Given the description of an element on the screen output the (x, y) to click on. 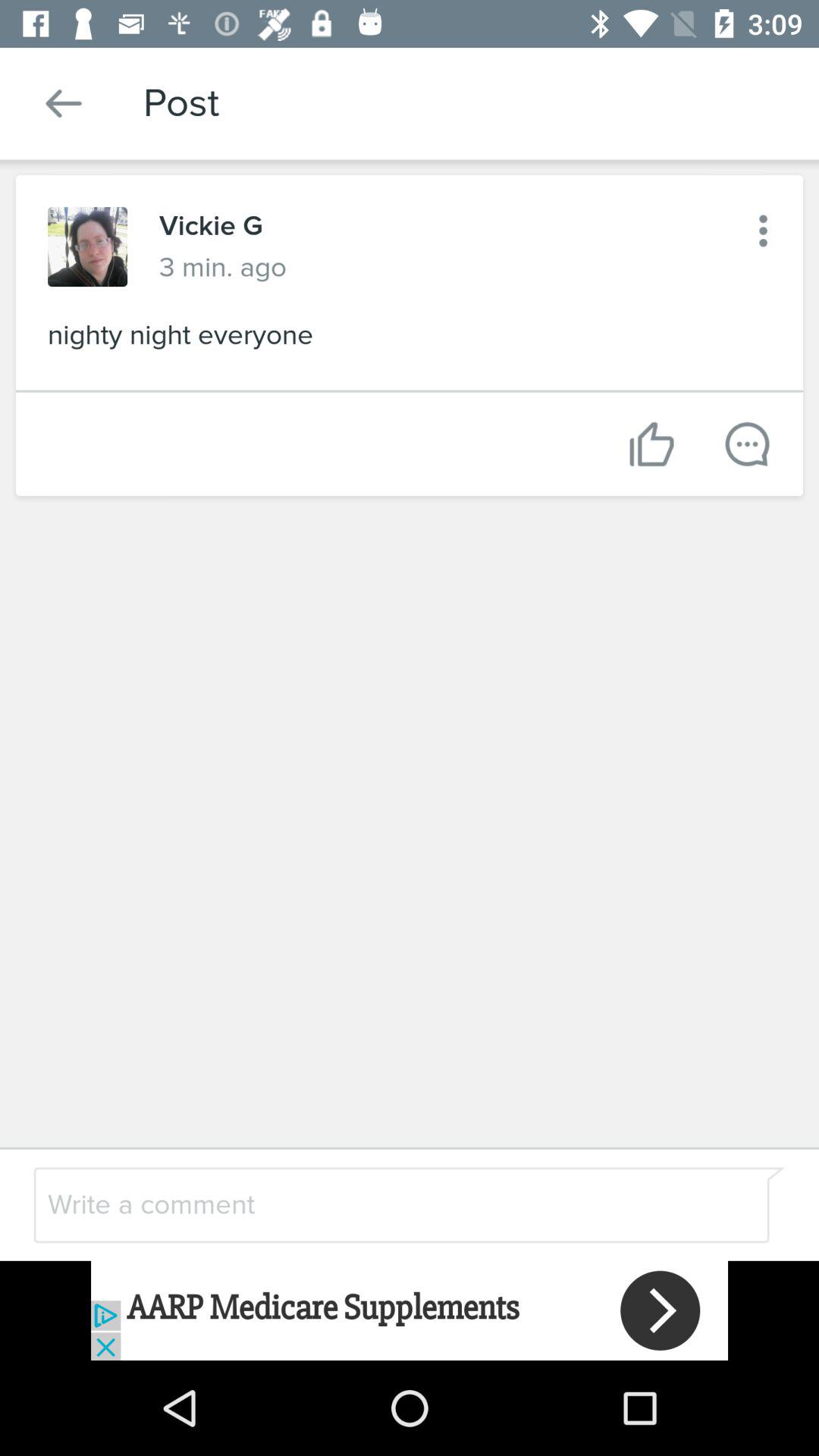
like this post (651, 444)
